Given the description of an element on the screen output the (x, y) to click on. 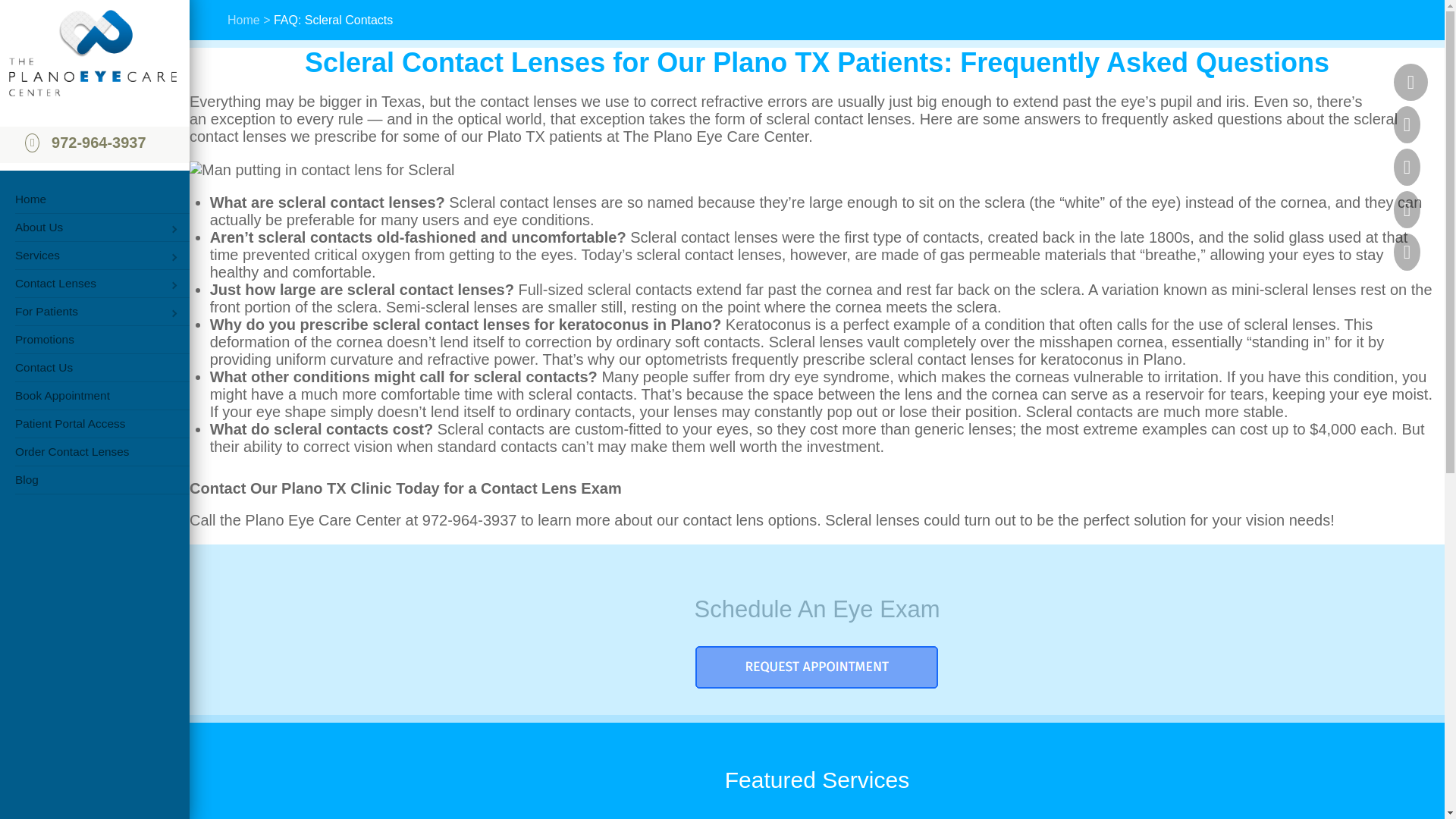
Blog (94, 479)
For Patients (79, 311)
About Us (79, 226)
Order Contact Lenses (94, 452)
Contact Lenses (79, 283)
The Plano Eye Care Center on Facebook (1410, 81)
Services (79, 255)
Book Appointment (94, 395)
Home (94, 198)
Contact Us (94, 367)
972-964-3937 (98, 142)
Patient Portal Access (94, 423)
Promotions (94, 338)
